Given the description of an element on the screen output the (x, y) to click on. 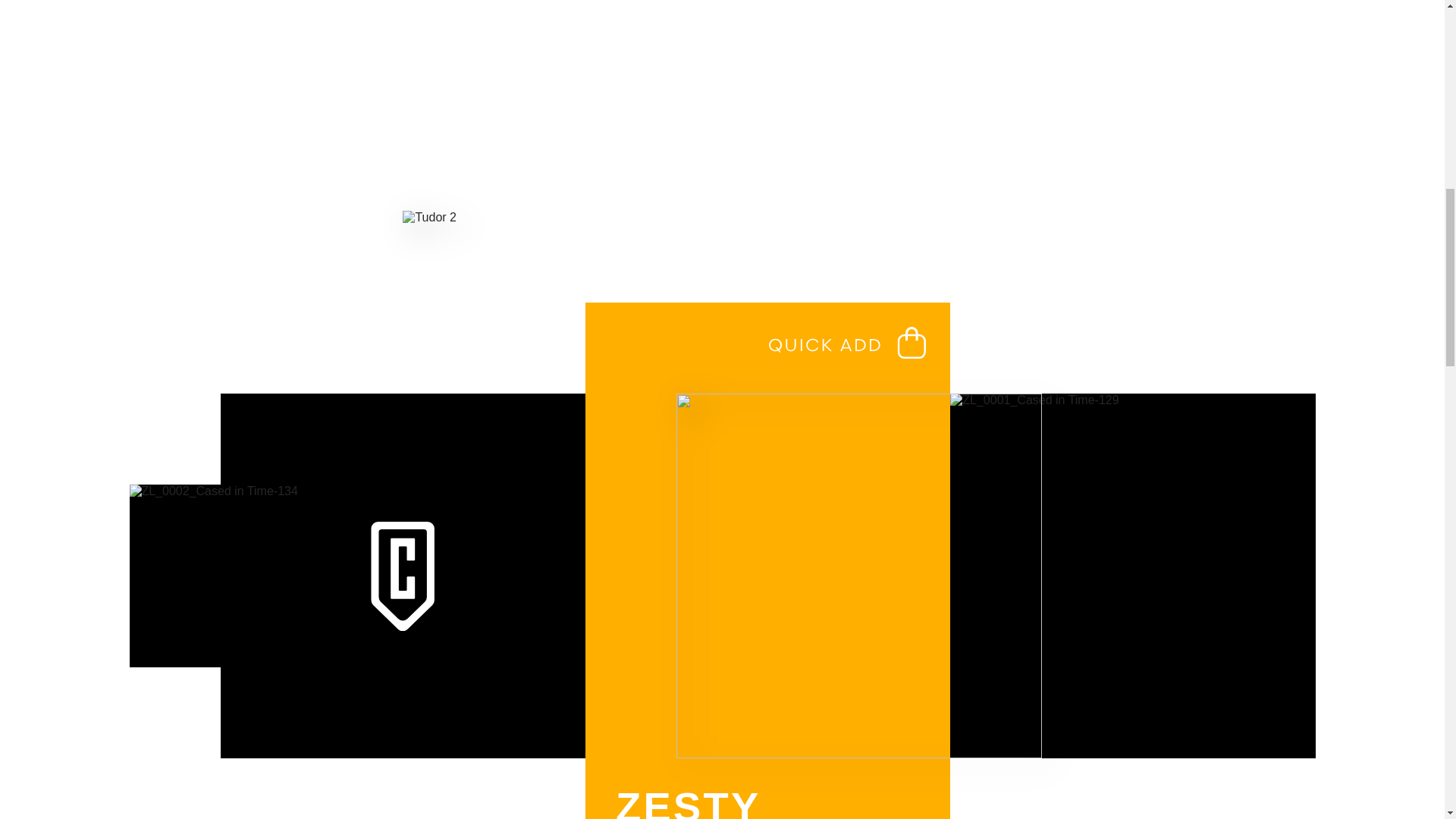
Add to basket (847, 342)
